Given the description of an element on the screen output the (x, y) to click on. 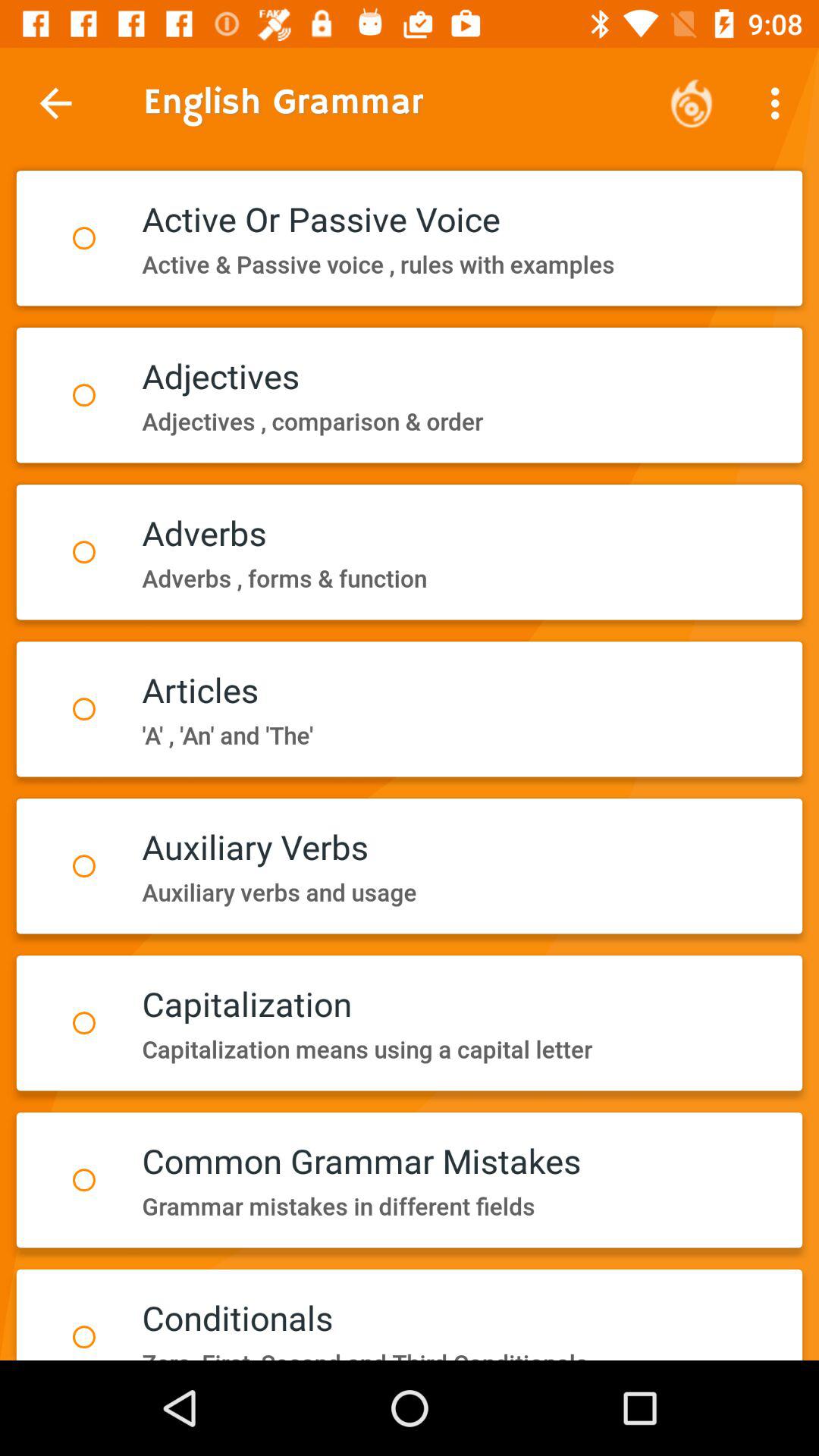
select item next to the english grammar icon (55, 103)
